Given the description of an element on the screen output the (x, y) to click on. 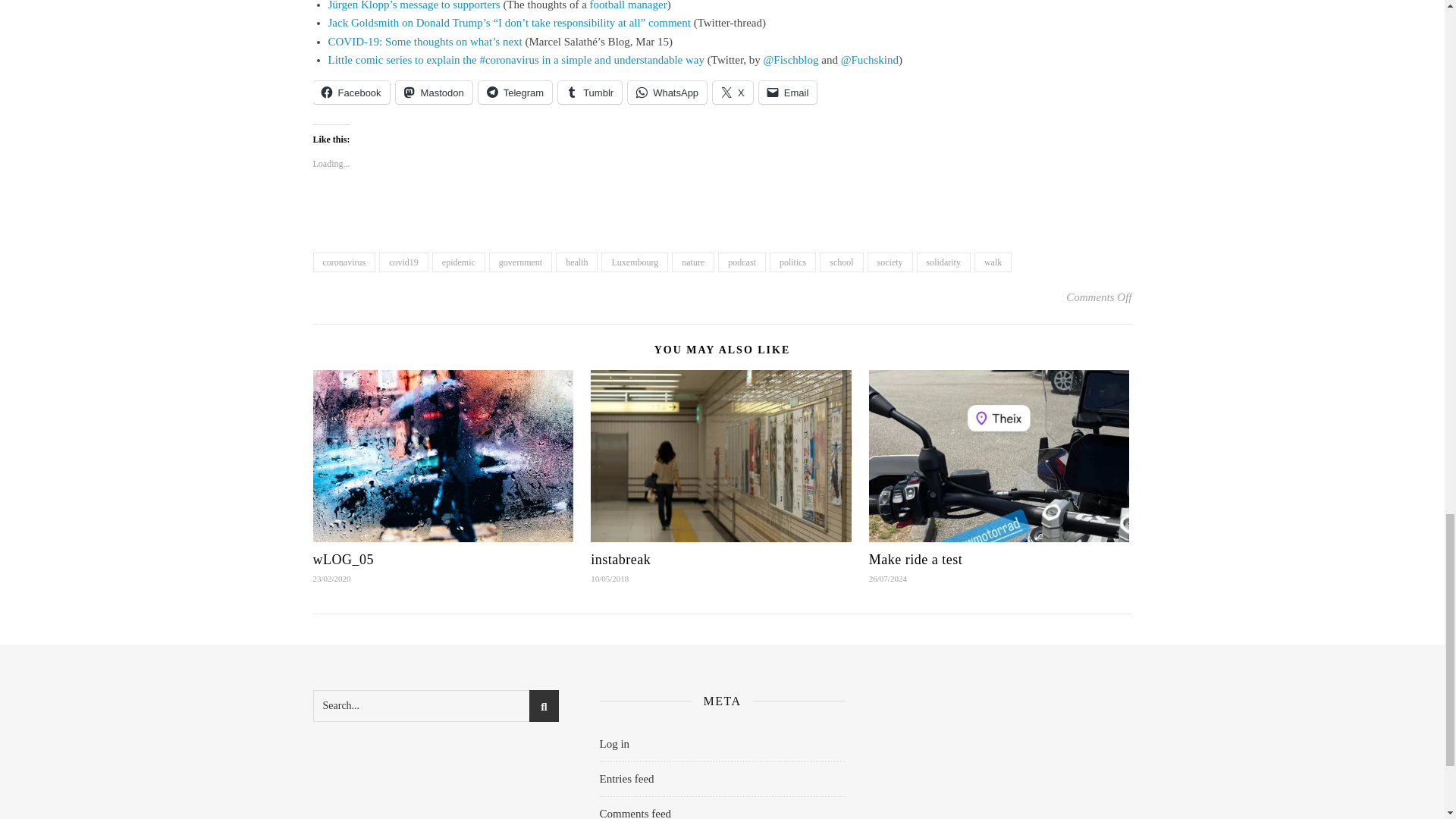
Like or Reblog (722, 216)
football (607, 5)
Click to share on Tumblr (589, 92)
Mastodon (433, 92)
Click to share on X (732, 92)
Click to share on Mastodon (433, 92)
Click to share on Facebook (350, 92)
Click to email a link to a friend (787, 92)
Email (787, 92)
X (732, 92)
Click to share on Telegram (515, 92)
Facebook (350, 92)
Click to share on WhatsApp (666, 92)
manager (646, 5)
WhatsApp (666, 92)
